Given the description of an element on the screen output the (x, y) to click on. 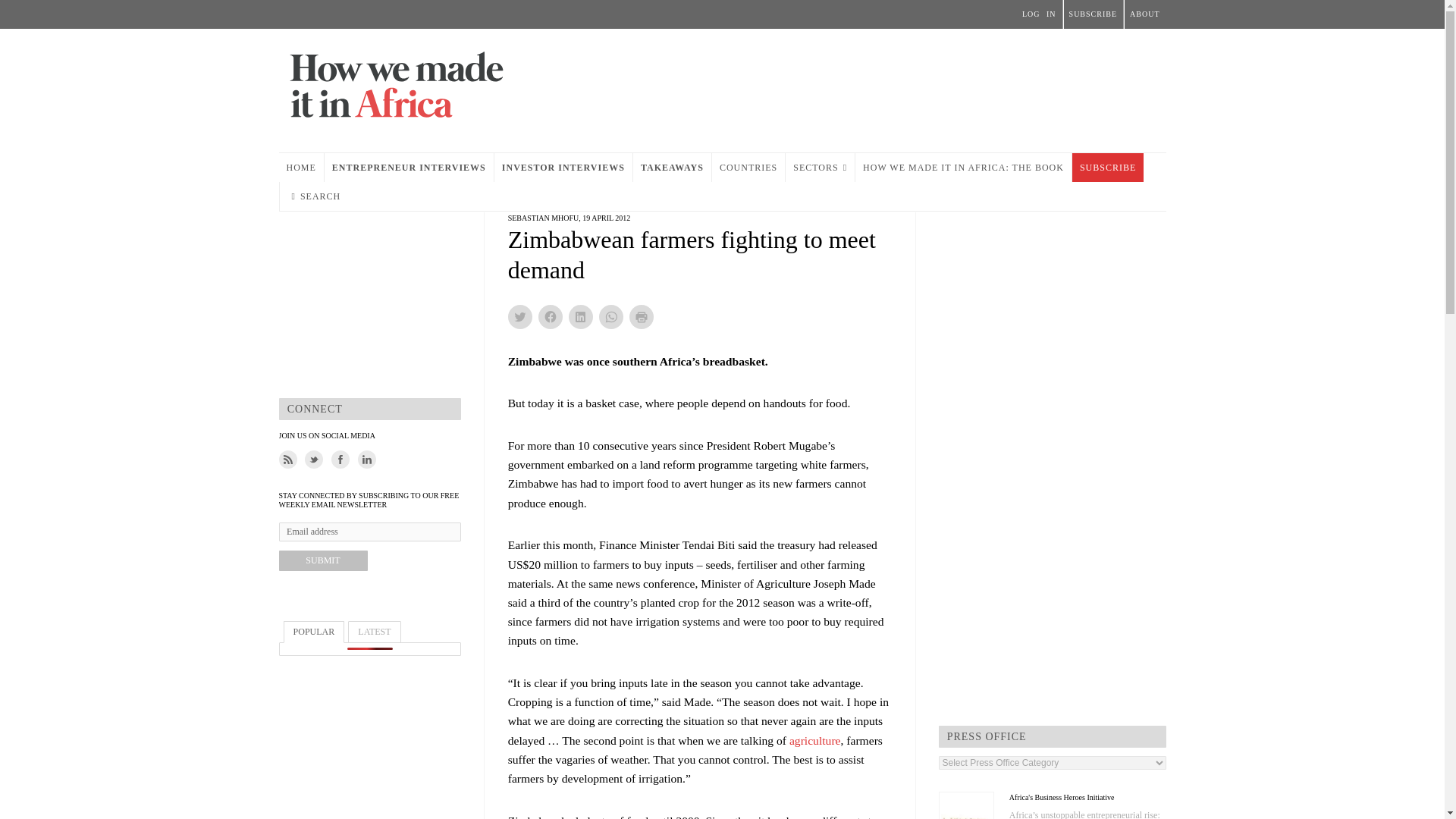
ENTREPRENEUR INTERVIEWS (408, 167)
Click to share on WhatsApp (610, 316)
HOW WE MADE IT IN AFRICA: THE BOOK (963, 167)
Click to share on LinkedIn (580, 316)
SUBSCRIBE (1106, 167)
SEARCH (315, 195)
SECTORS (820, 167)
Click to share on Facebook (550, 316)
TAKEAWAYS (672, 167)
COUNTRIES (747, 167)
